Given the description of an element on the screen output the (x, y) to click on. 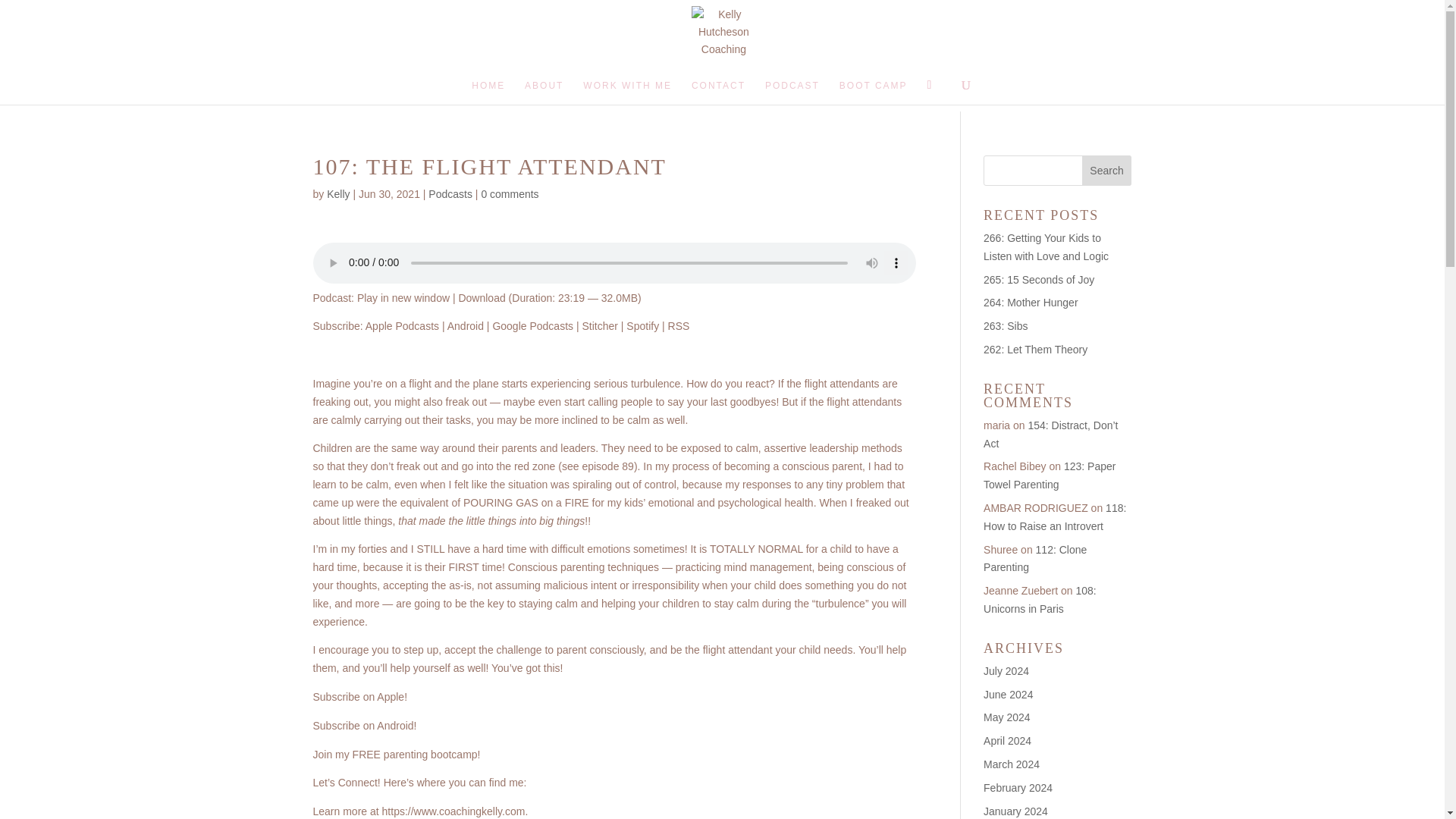
WORK WITH ME (627, 92)
Play in new window (402, 297)
Subscribe on Android (464, 326)
Subscribe on Apple Podcasts (402, 326)
Subscribe on Apple! (360, 696)
Android (464, 326)
July 2024 (1006, 671)
Posts by Kelly (337, 193)
PODCAST (792, 92)
118: How to Raise an Introvert (1054, 517)
Spotify (642, 326)
Kelly (337, 193)
108: Unicorns in Paris (1040, 599)
Search (1106, 170)
Subscribe on Stitcher (598, 326)
